Given the description of an element on the screen output the (x, y) to click on. 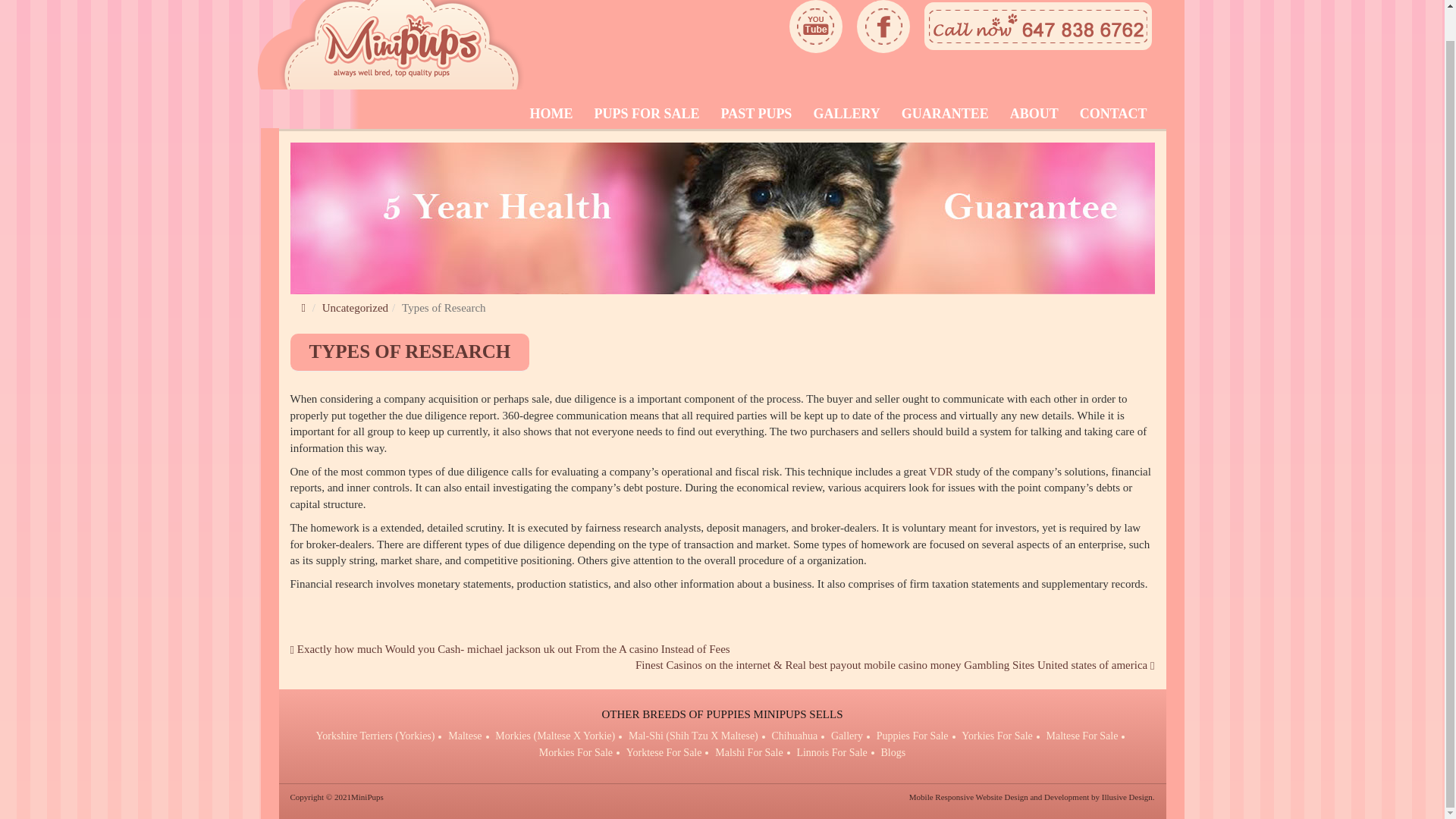
VDR (940, 471)
Linnois For Sale (831, 752)
Yorkies For Sale (996, 736)
Uncategorized (354, 307)
About (1034, 113)
Puppies For Sale (912, 736)
GALLERY (845, 113)
Malshi For Sale (748, 752)
Yorktese For Sale (663, 752)
facebook (883, 26)
Gallery (847, 736)
Gallery (845, 113)
Morkies For Sale (575, 752)
Home (550, 113)
GUARANTEE (944, 113)
